Given the description of an element on the screen output the (x, y) to click on. 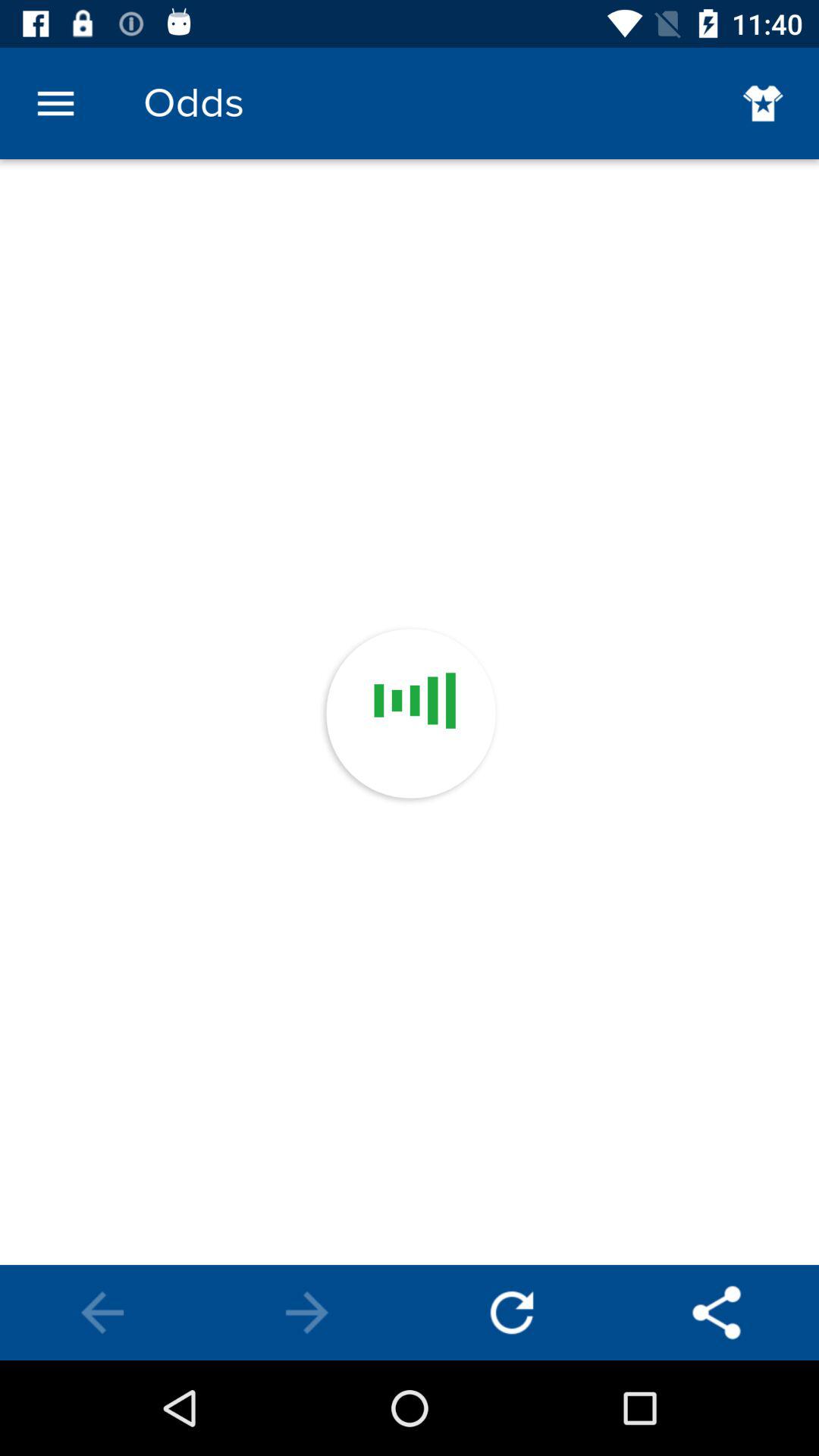
go forward (306, 1312)
